Given the description of an element on the screen output the (x, y) to click on. 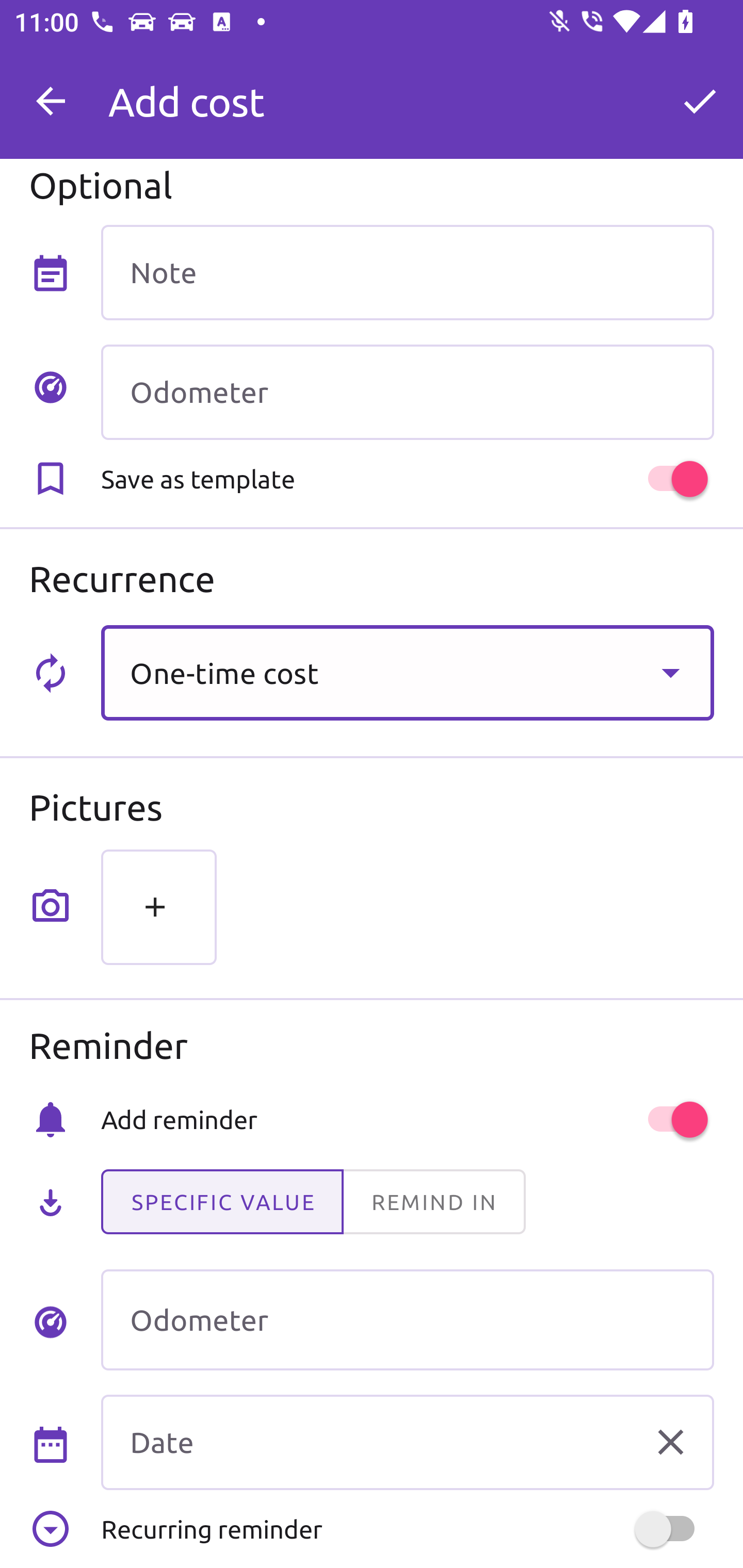
M My Car 0 km (407, 92)
Navigate up (50, 101)
OK (699, 101)
Note (407, 271)
Odometer (407, 392)
Save as template (407, 478)
One-time cost (407, 673)
Show dropdown menu (670, 672)
Add reminder (407, 1119)
SPECIFIC VALUE (222, 1201)
REMIND IN (433, 1201)
Odometer (407, 1320)
Date (407, 1441)
Delete (670, 1441)
Recurring reminder (407, 1529)
